Given the description of an element on the screen output the (x, y) to click on. 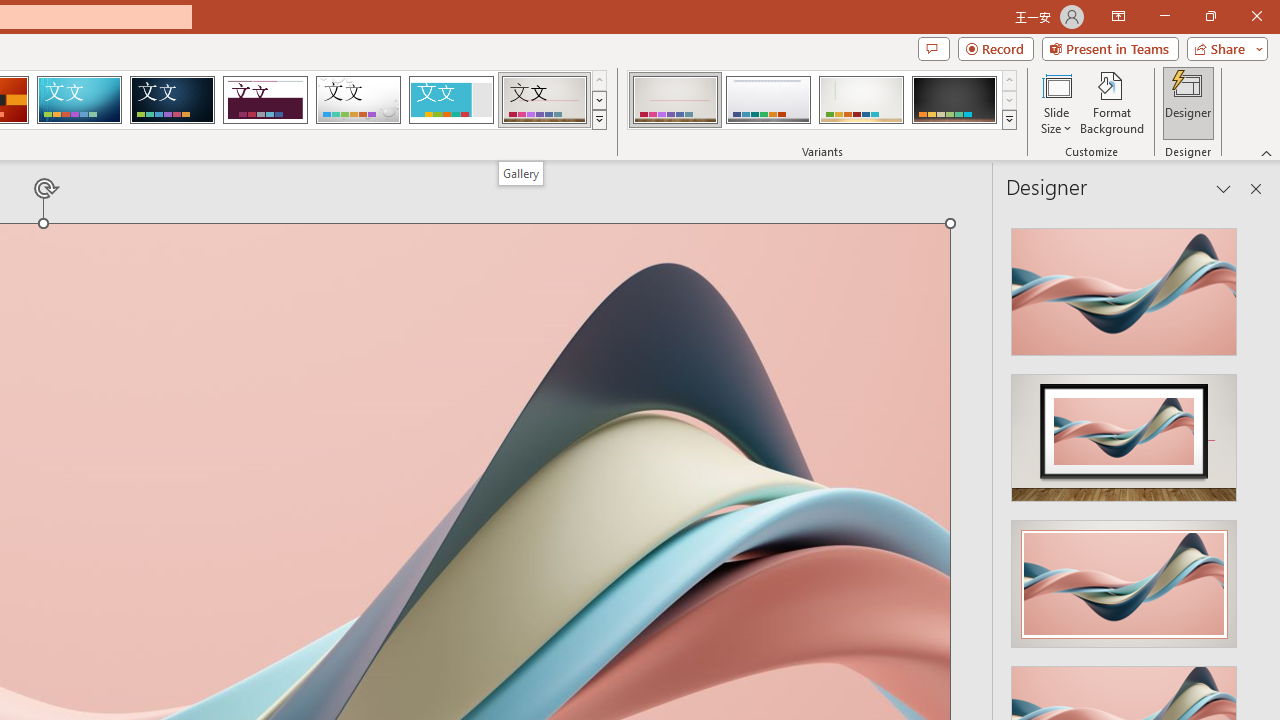
Gallery Variant 3 (861, 100)
Droplet (358, 100)
Variants (1009, 120)
AutomationID: ThemeVariantsGallery (822, 99)
Circuit (79, 100)
Gallery Variant 2 (768, 100)
